Given the description of an element on the screen output the (x, y) to click on. 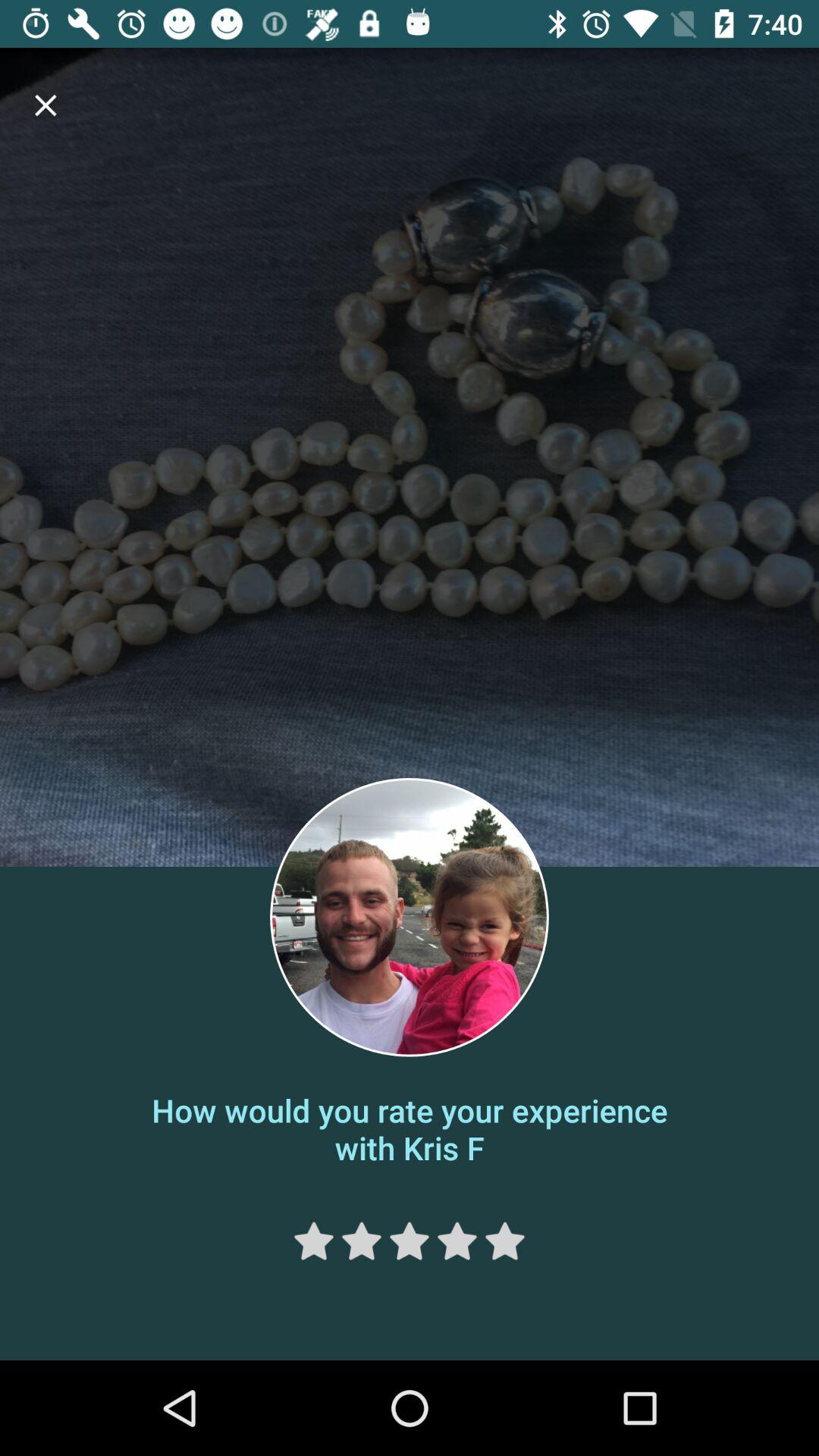
five star rating (504, 1240)
